Given the description of an element on the screen output the (x, y) to click on. 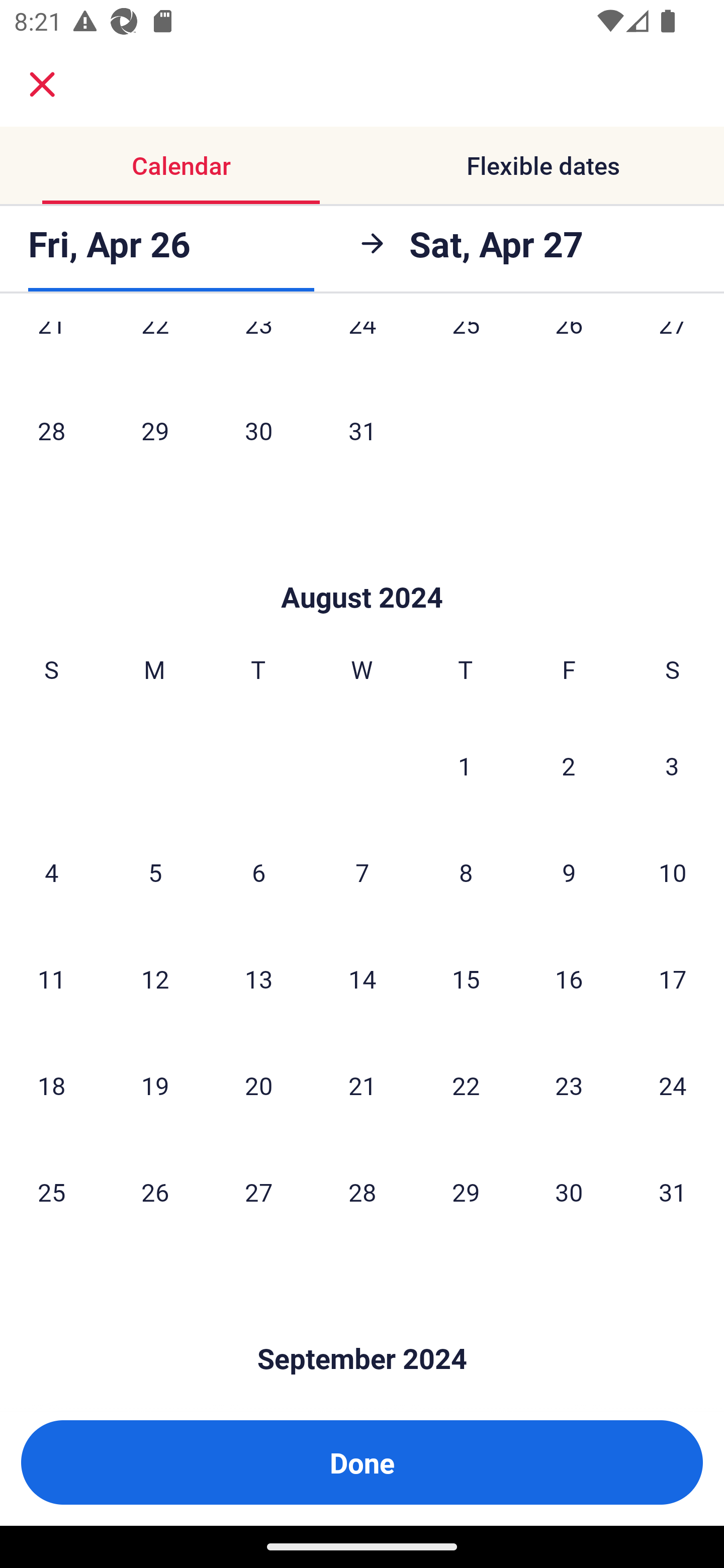
close. (42, 84)
Flexible dates (542, 164)
28 Sunday, July 28, 2024 (51, 430)
29 Monday, July 29, 2024 (155, 430)
30 Tuesday, July 30, 2024 (258, 430)
31 Wednesday, July 31, 2024 (362, 430)
Skip to Done (362, 567)
1 Thursday, August 1, 2024 (464, 764)
2 Friday, August 2, 2024 (568, 764)
3 Saturday, August 3, 2024 (672, 764)
4 Sunday, August 4, 2024 (51, 871)
5 Monday, August 5, 2024 (155, 871)
6 Tuesday, August 6, 2024 (258, 871)
7 Wednesday, August 7, 2024 (362, 871)
8 Thursday, August 8, 2024 (465, 871)
9 Friday, August 9, 2024 (569, 871)
10 Saturday, August 10, 2024 (672, 871)
11 Sunday, August 11, 2024 (51, 978)
12 Monday, August 12, 2024 (155, 978)
13 Tuesday, August 13, 2024 (258, 978)
14 Wednesday, August 14, 2024 (362, 978)
15 Thursday, August 15, 2024 (465, 978)
16 Friday, August 16, 2024 (569, 978)
17 Saturday, August 17, 2024 (672, 978)
18 Sunday, August 18, 2024 (51, 1084)
19 Monday, August 19, 2024 (155, 1084)
20 Tuesday, August 20, 2024 (258, 1084)
21 Wednesday, August 21, 2024 (362, 1084)
22 Thursday, August 22, 2024 (465, 1084)
23 Friday, August 23, 2024 (569, 1084)
24 Saturday, August 24, 2024 (672, 1084)
25 Sunday, August 25, 2024 (51, 1191)
26 Monday, August 26, 2024 (155, 1191)
27 Tuesday, August 27, 2024 (258, 1191)
28 Wednesday, August 28, 2024 (362, 1191)
29 Thursday, August 29, 2024 (465, 1191)
30 Friday, August 30, 2024 (569, 1191)
31 Saturday, August 31, 2024 (672, 1191)
Skip to Done (362, 1328)
Done (361, 1462)
